Given the description of an element on the screen output the (x, y) to click on. 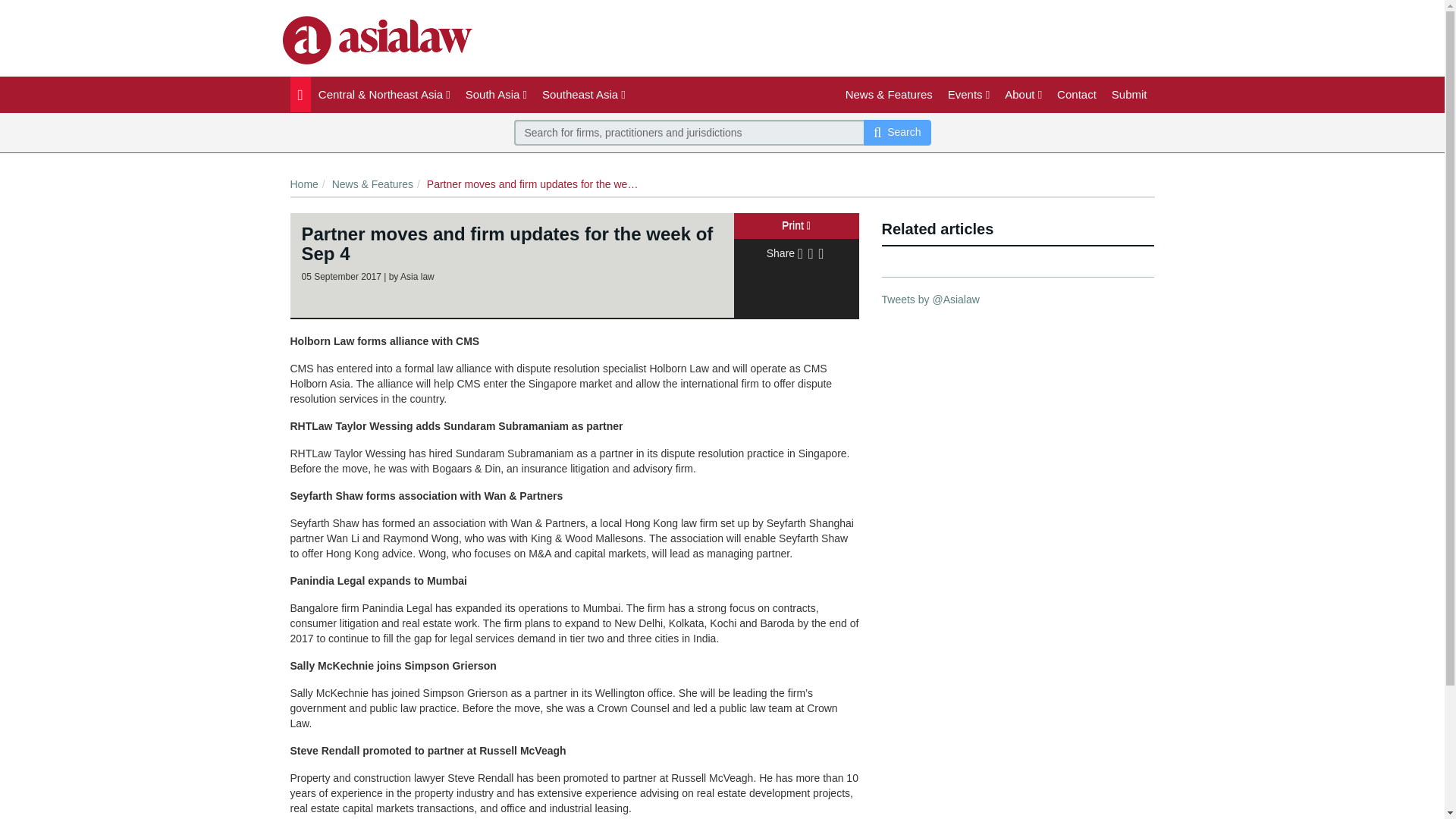
Events (968, 94)
South Asia (496, 94)
Southeast Asia (583, 94)
South Asia (496, 94)
About (1023, 94)
Southeast Asia (583, 94)
